Given the description of an element on the screen output the (x, y) to click on. 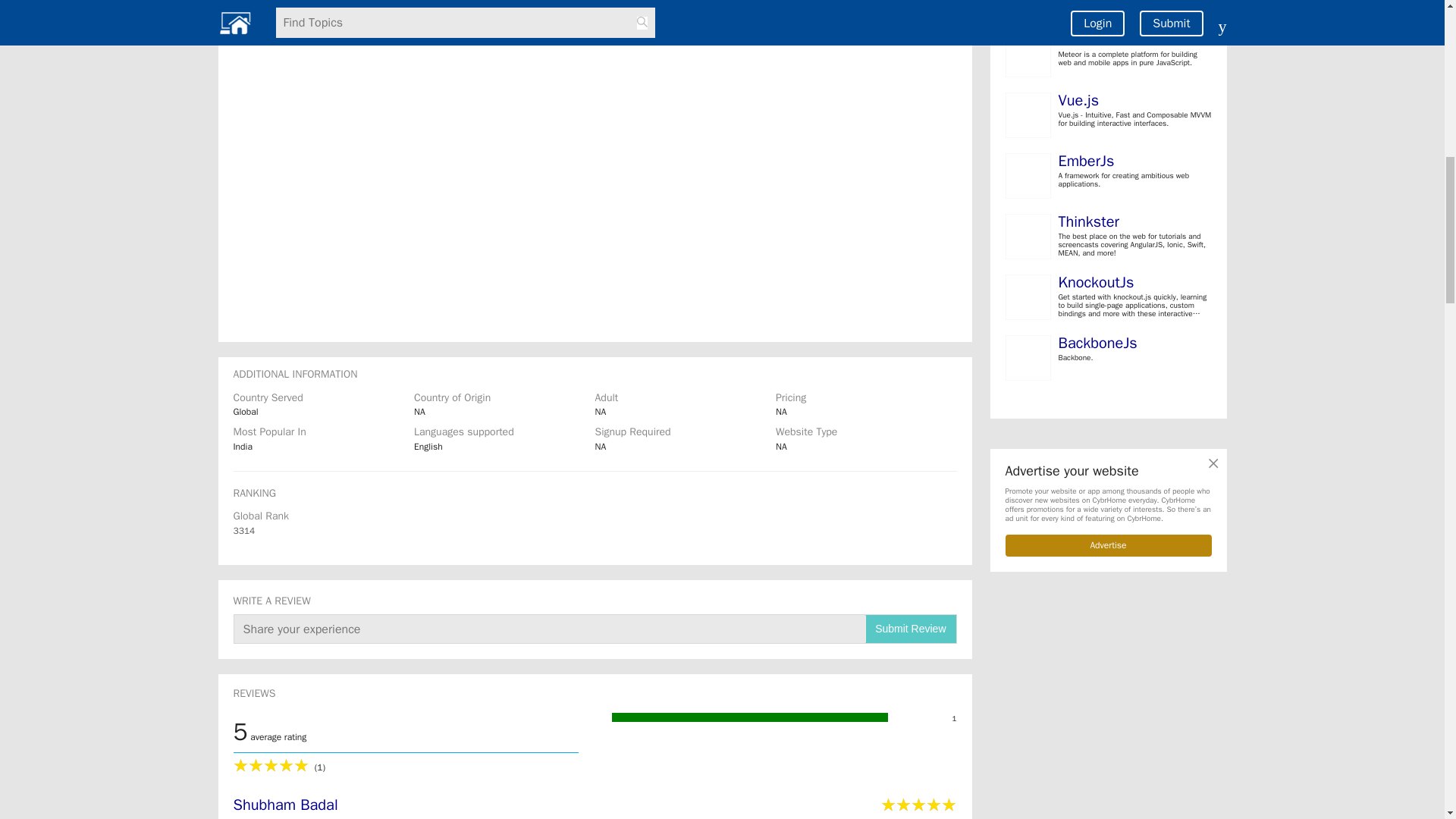
Submit Review (909, 628)
Shubham Badal (284, 804)
Shubham Badal (485, 806)
